Given the description of an element on the screen output the (x, y) to click on. 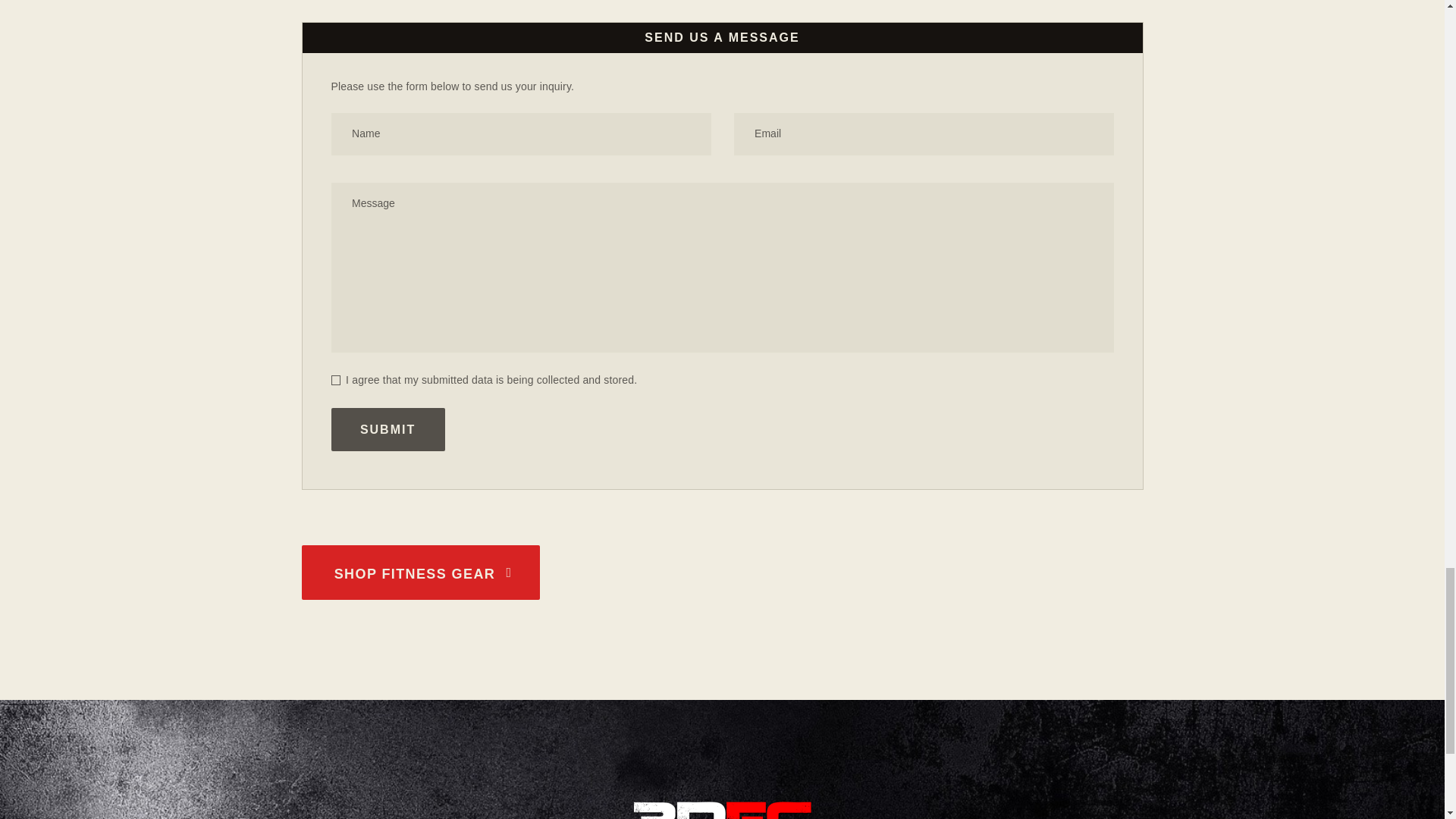
submit (387, 429)
SHOP FITNESS GEAR (420, 572)
submit (387, 429)
